Given the description of an element on the screen output the (x, y) to click on. 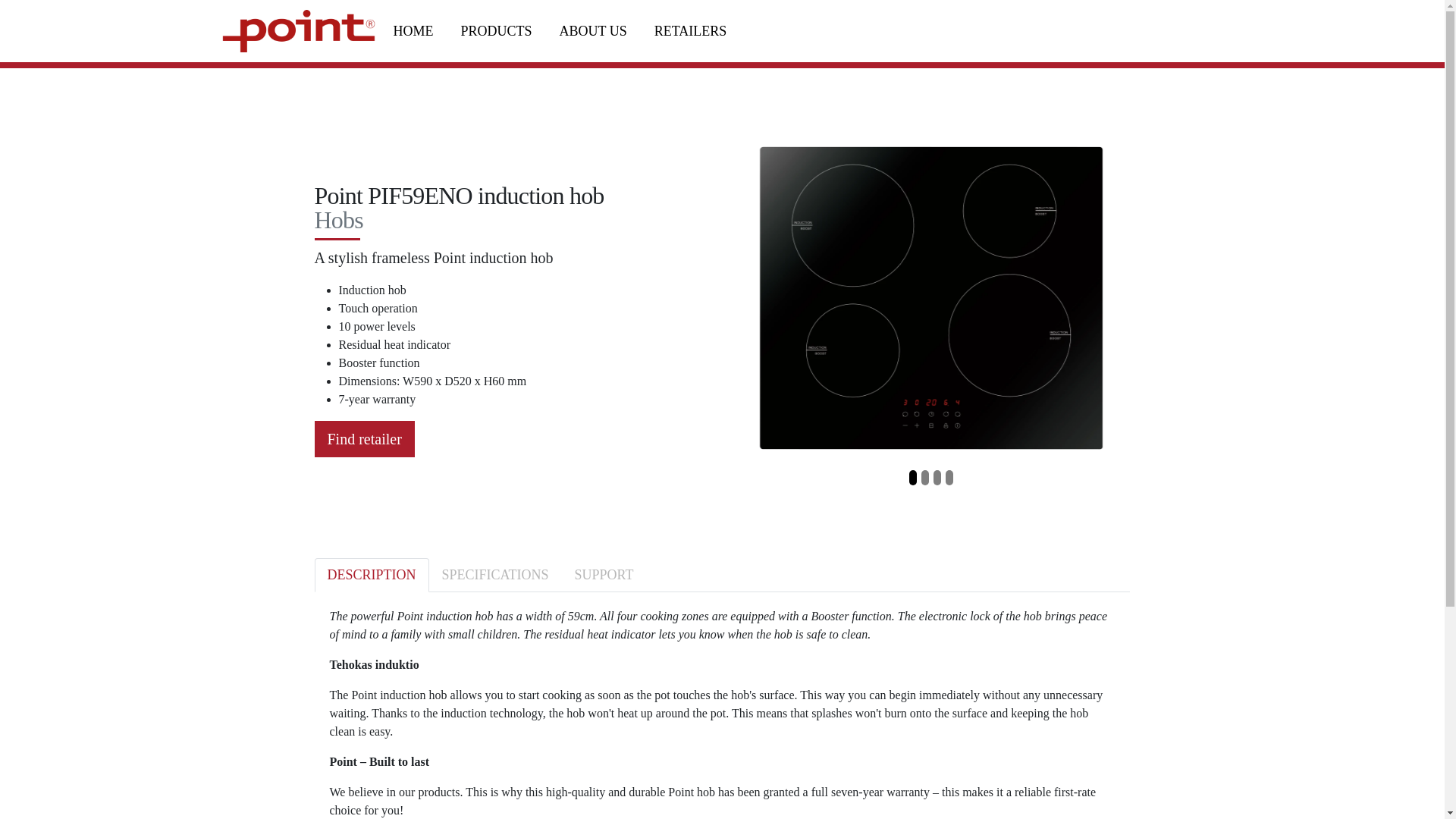
RETAILERS (690, 31)
PRODUCTS (496, 31)
DESCRIPTION (371, 574)
SPECIFICATIONS (495, 574)
SUPPORT (604, 574)
Find retailer (363, 438)
HOME (413, 31)
ABOUT US (593, 31)
